Given the description of an element on the screen output the (x, y) to click on. 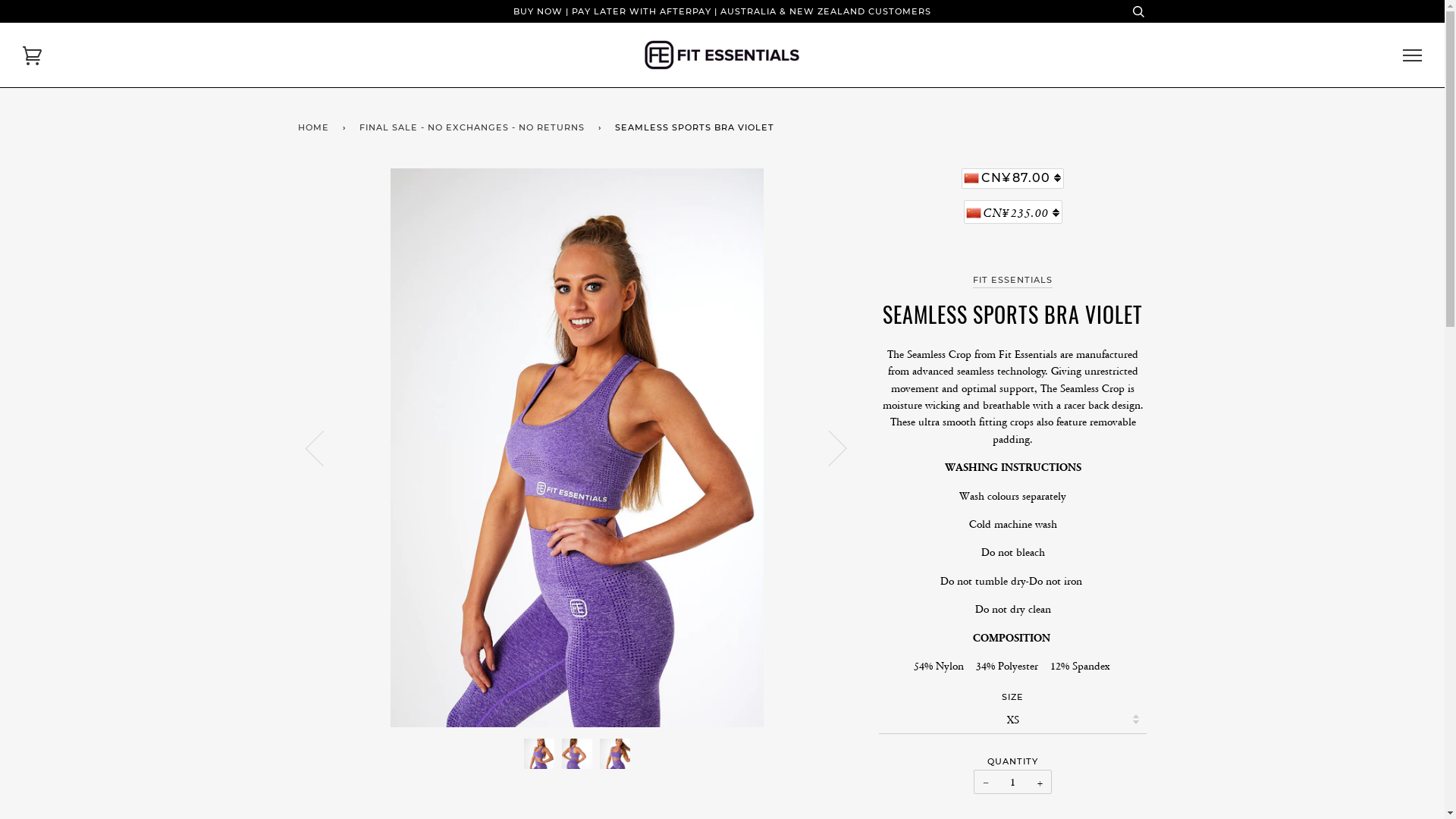
HOME Element type: text (315, 127)
Previous Element type: text (322, 447)
FINAL SALE - NO EXCHANGES - NO RETURNS Element type: text (474, 127)
Next Element type: text (828, 447)
+ Element type: text (1039, 781)
FIT ESSENTIALS Element type: text (1012, 281)
